Given the description of an element on the screen output the (x, y) to click on. 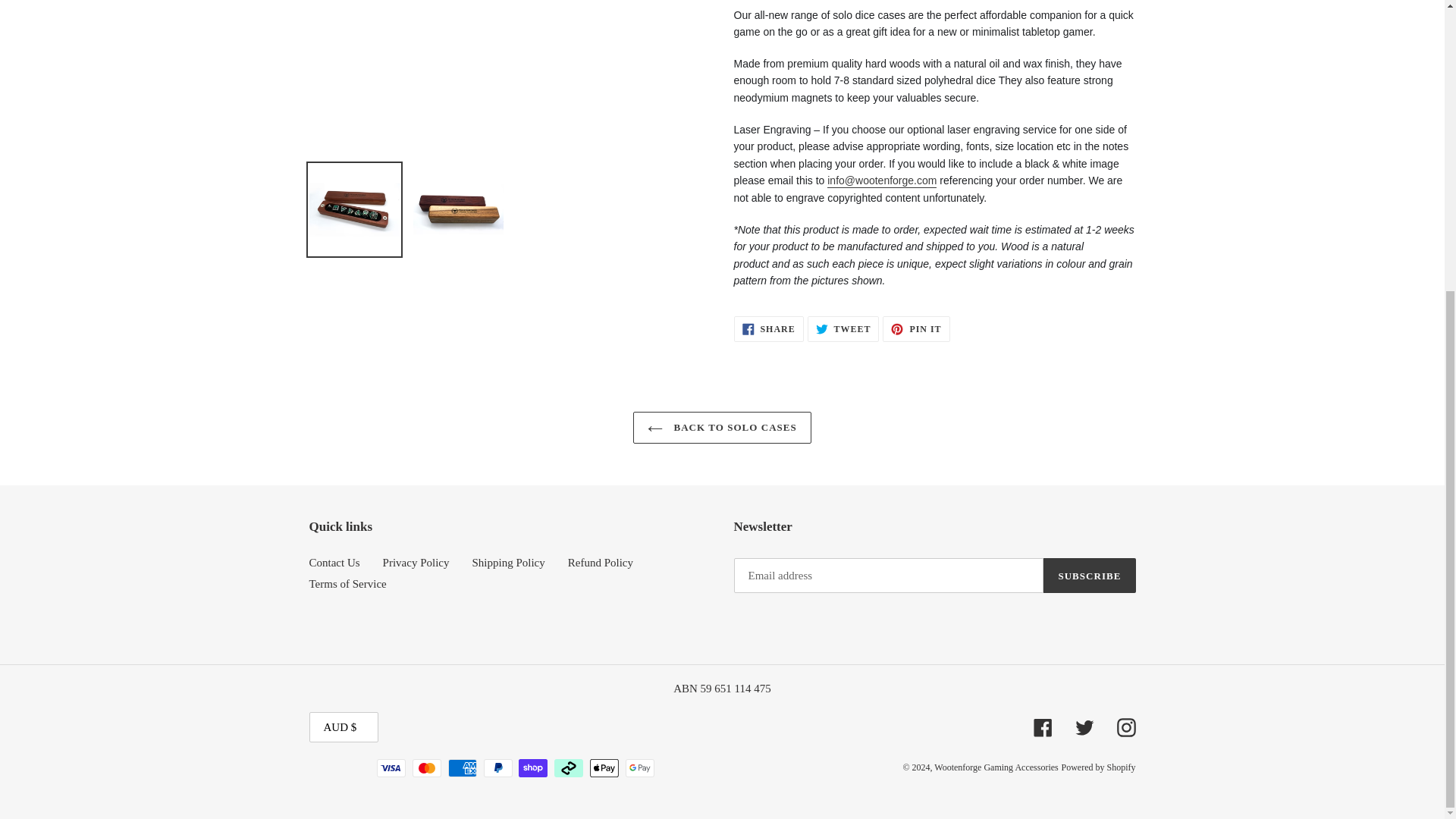
Terms of Service (768, 329)
Refund Policy (347, 583)
Shipping Policy (600, 562)
Contact Us (843, 329)
Privacy Policy (507, 562)
BACK TO SOLO CASES (333, 562)
SUBSCRIBE (415, 562)
